Given the description of an element on the screen output the (x, y) to click on. 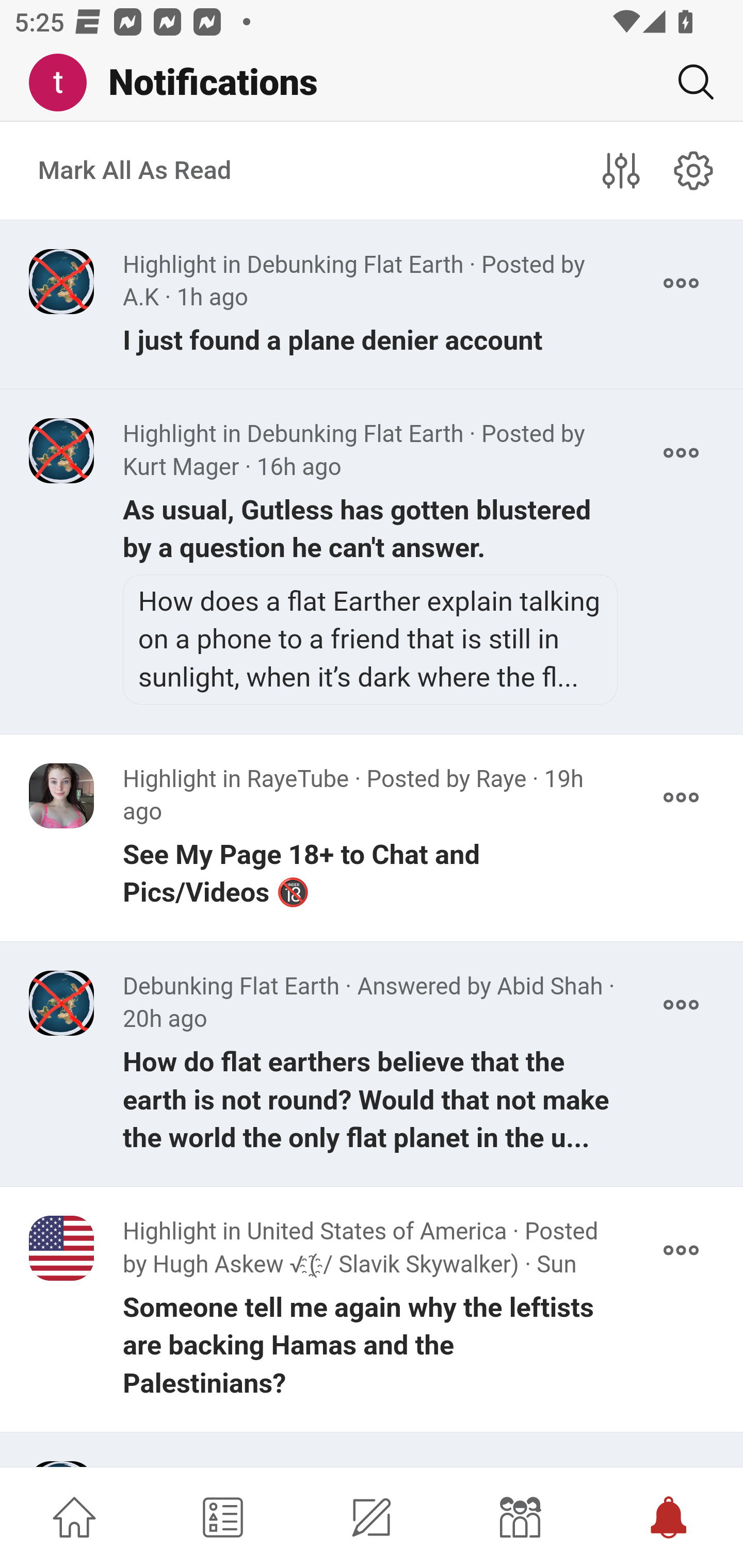
Me Notifications Search (371, 82)
Me (64, 83)
Search (688, 82)
Mark All As Read (135, 171)
notifications# (693, 170)
More (681, 282)
More (681, 452)
More (681, 797)
More (681, 1004)
More (681, 1250)
More (681, 1464)
